Given the description of an element on the screen output the (x, y) to click on. 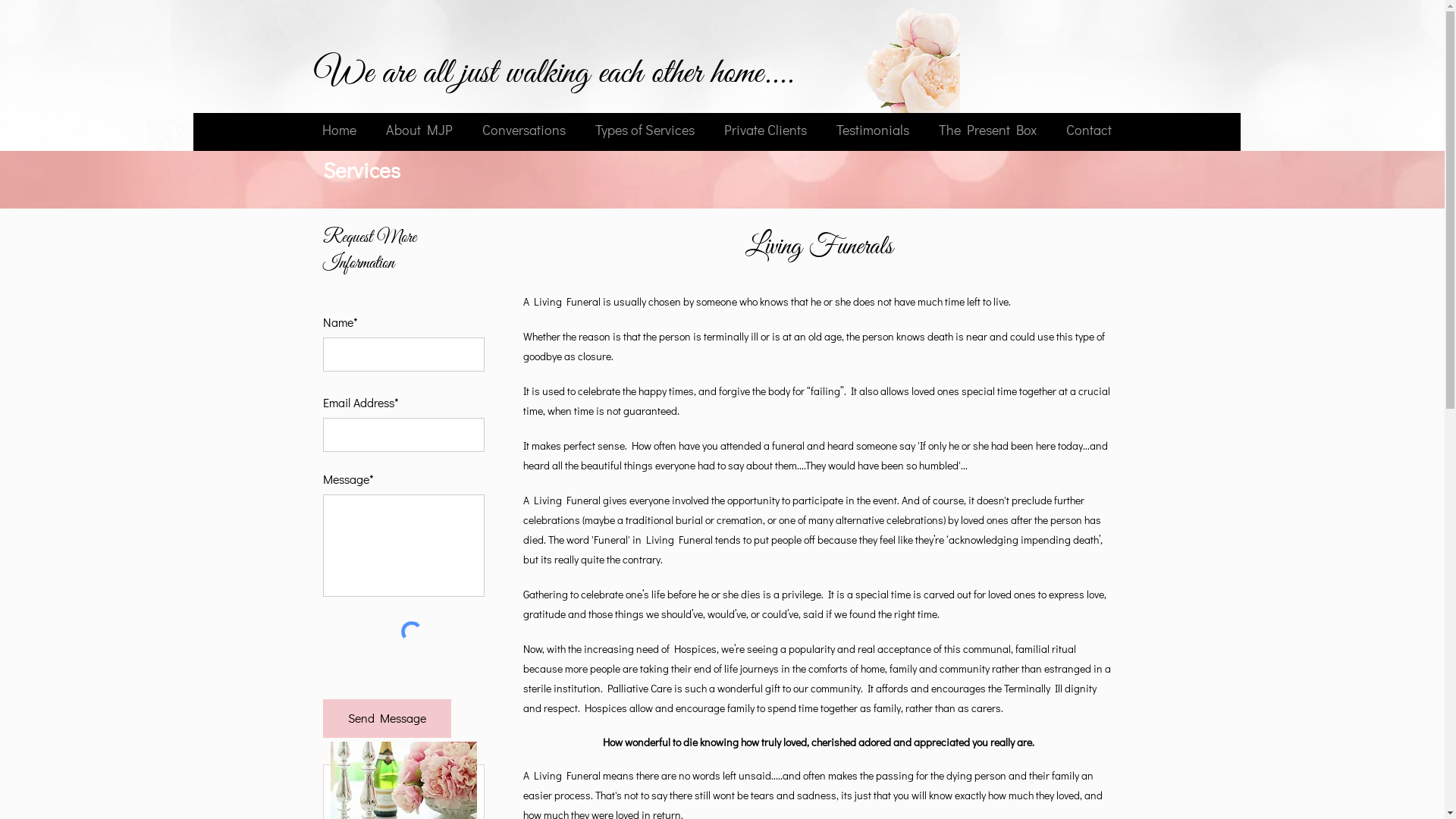
The Present Box Element type: text (987, 129)
Conversations Element type: text (523, 129)
Private Clients Element type: text (765, 129)
Send Message Element type: text (387, 718)
Testimonials Element type: text (873, 129)
Types of Services Element type: text (644, 129)
Contact Element type: text (1088, 129)
Home Element type: text (339, 129)
About MJP Element type: text (419, 129)
